Given the description of an element on the screen output the (x, y) to click on. 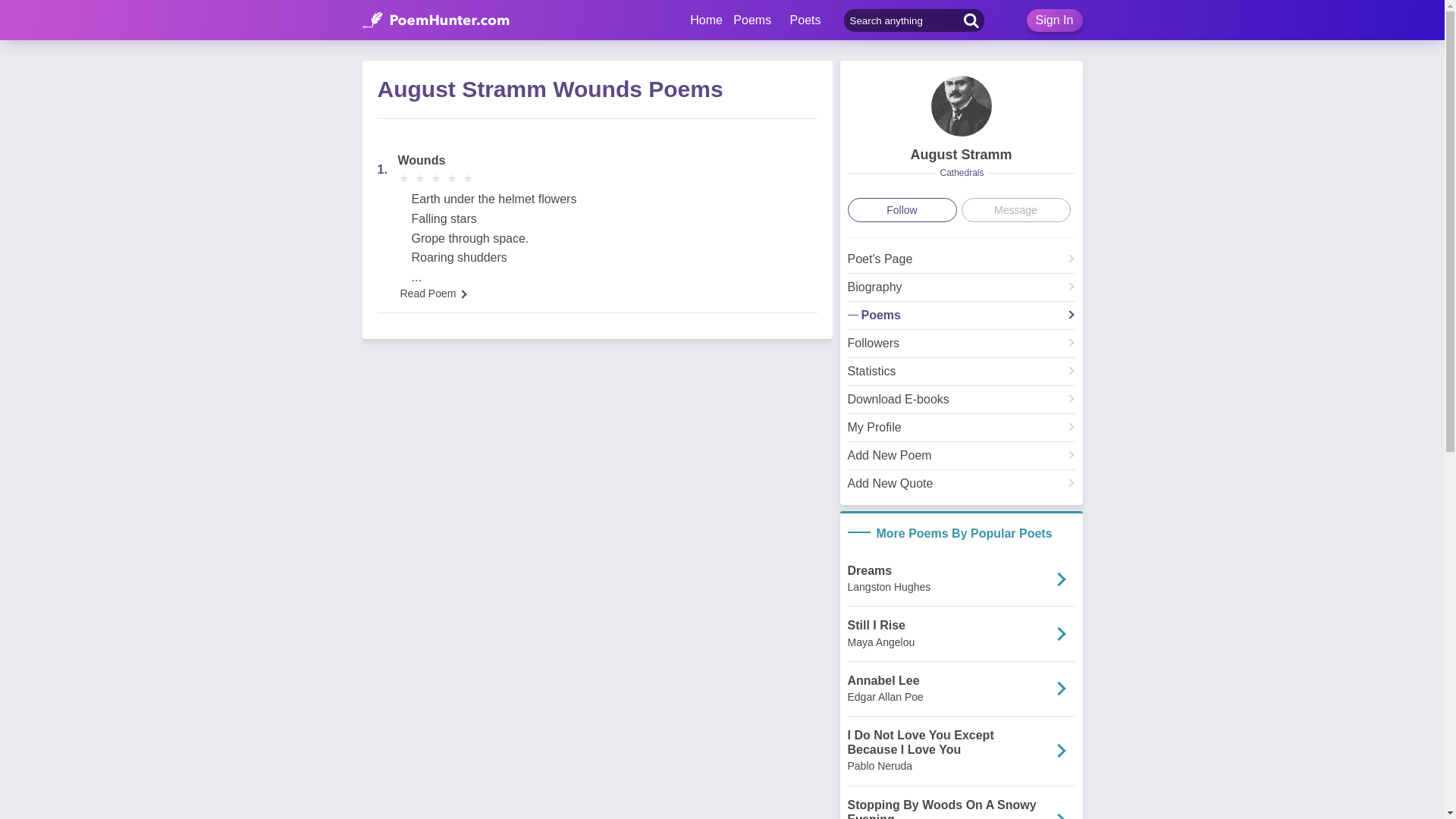
PoemHunter.com: Poems - Poets - Poetry (435, 20)
PoemHunter.com: Poems - Poets - Poetry (706, 19)
August Stramm (960, 154)
Home (706, 19)
My Profile (961, 431)
Sign In (1054, 19)
Statistics (961, 375)
August Stramm (961, 263)
Followers (961, 347)
Message (1015, 209)
